Given the description of an element on the screen output the (x, y) to click on. 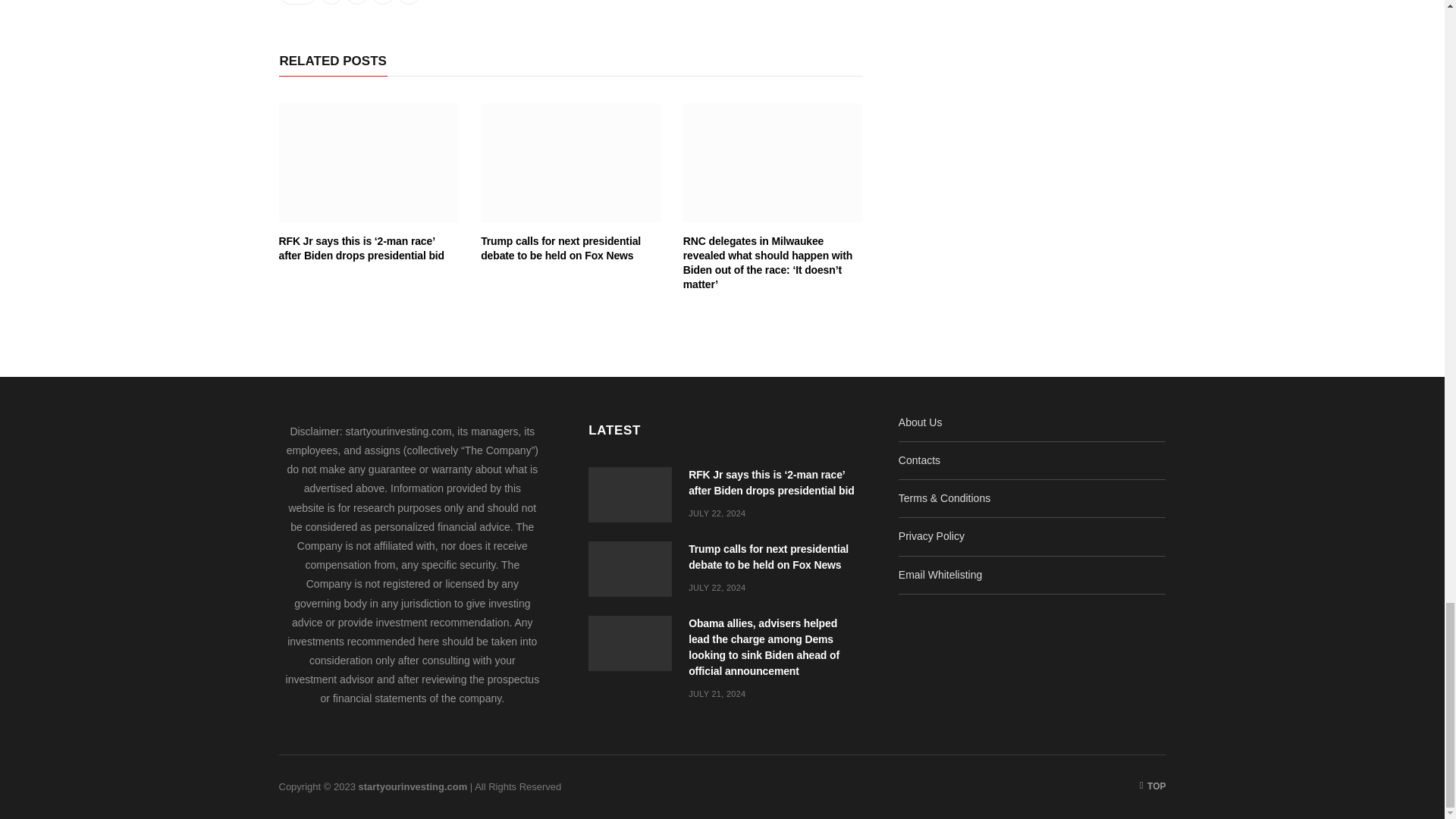
0 (298, 2)
